Given the description of an element on the screen output the (x, y) to click on. 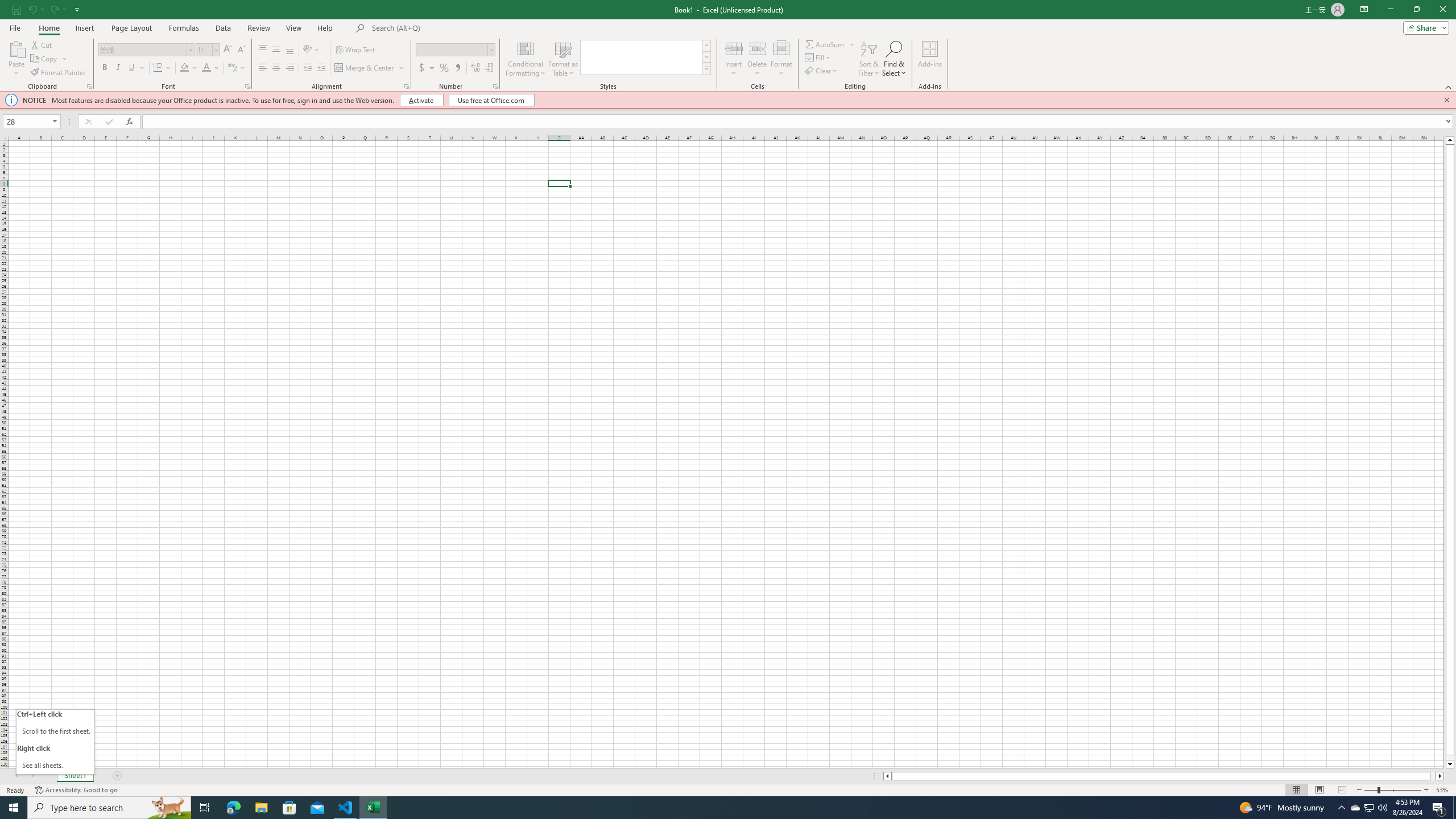
Class: NetUIScrollBar (1163, 775)
Data (223, 28)
Microsoft search (450, 28)
Use free at Office.com (491, 100)
Insert (733, 58)
Format as Table (563, 58)
System (6, 6)
Align Right (290, 67)
Bottom Align (290, 49)
AutoSum (830, 44)
Decrease Indent (307, 67)
Sheet1 (74, 775)
Number Format (451, 49)
Close this message (1446, 99)
